Given the description of an element on the screen output the (x, y) to click on. 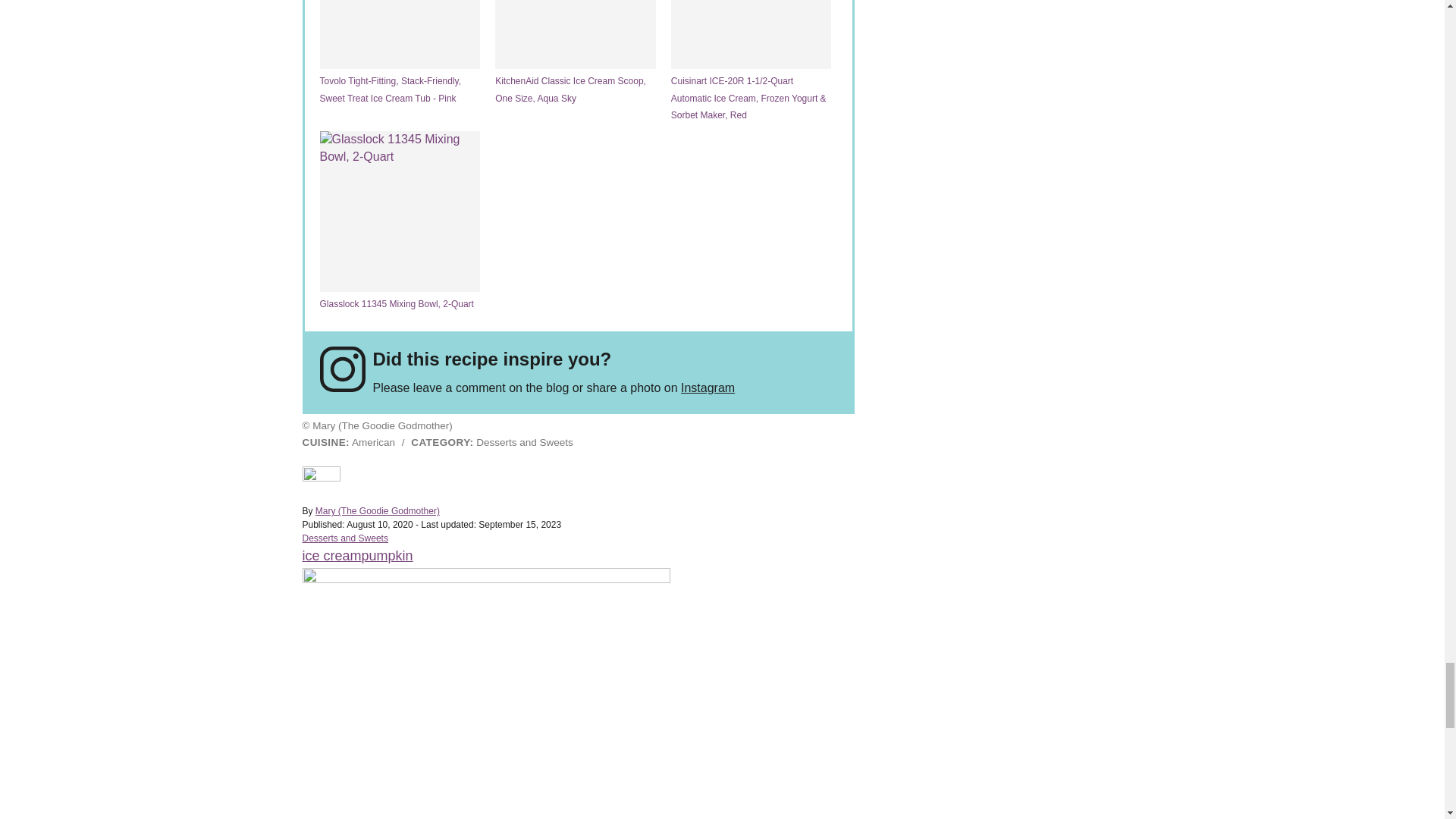
pumpkin (387, 555)
Desserts and Sweets (344, 538)
KitchenAid Classic Ice Cream Scoop, One Size, Aqua Sky (575, 53)
Instagram (708, 387)
ice cream (331, 555)
